Given the description of an element on the screen output the (x, y) to click on. 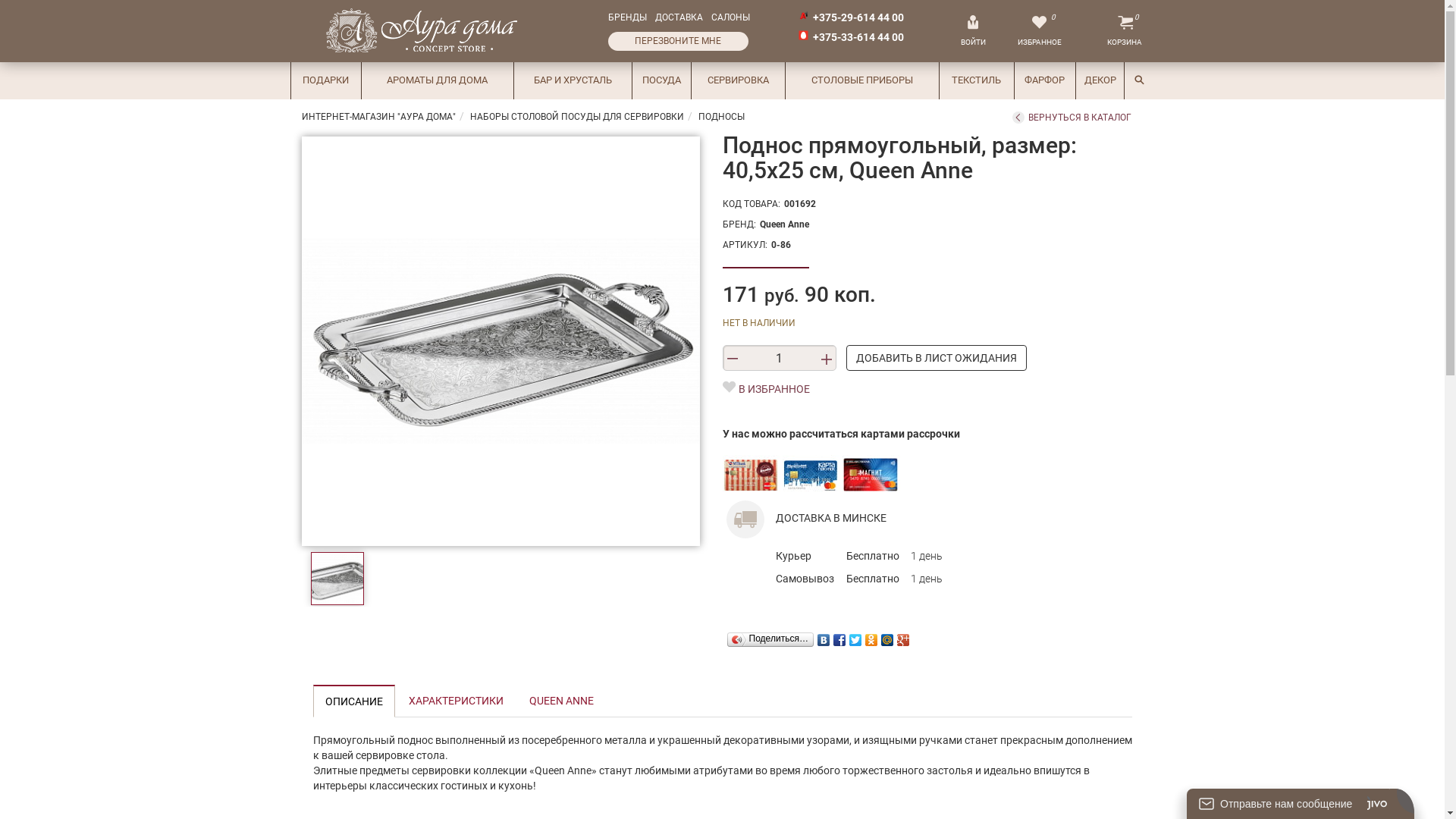
Twitter Element type: hover (855, 636)
Queen Anne Element type: text (784, 224)
Facebook Element type: hover (839, 636)
QUEEN ANNE Element type: text (561, 700)
+375-29-614 44 00 Element type: text (857, 17)
Google Plus Element type: hover (903, 636)
+375-33-614 44 00 Element type: text (857, 37)
